Given the description of an element on the screen output the (x, y) to click on. 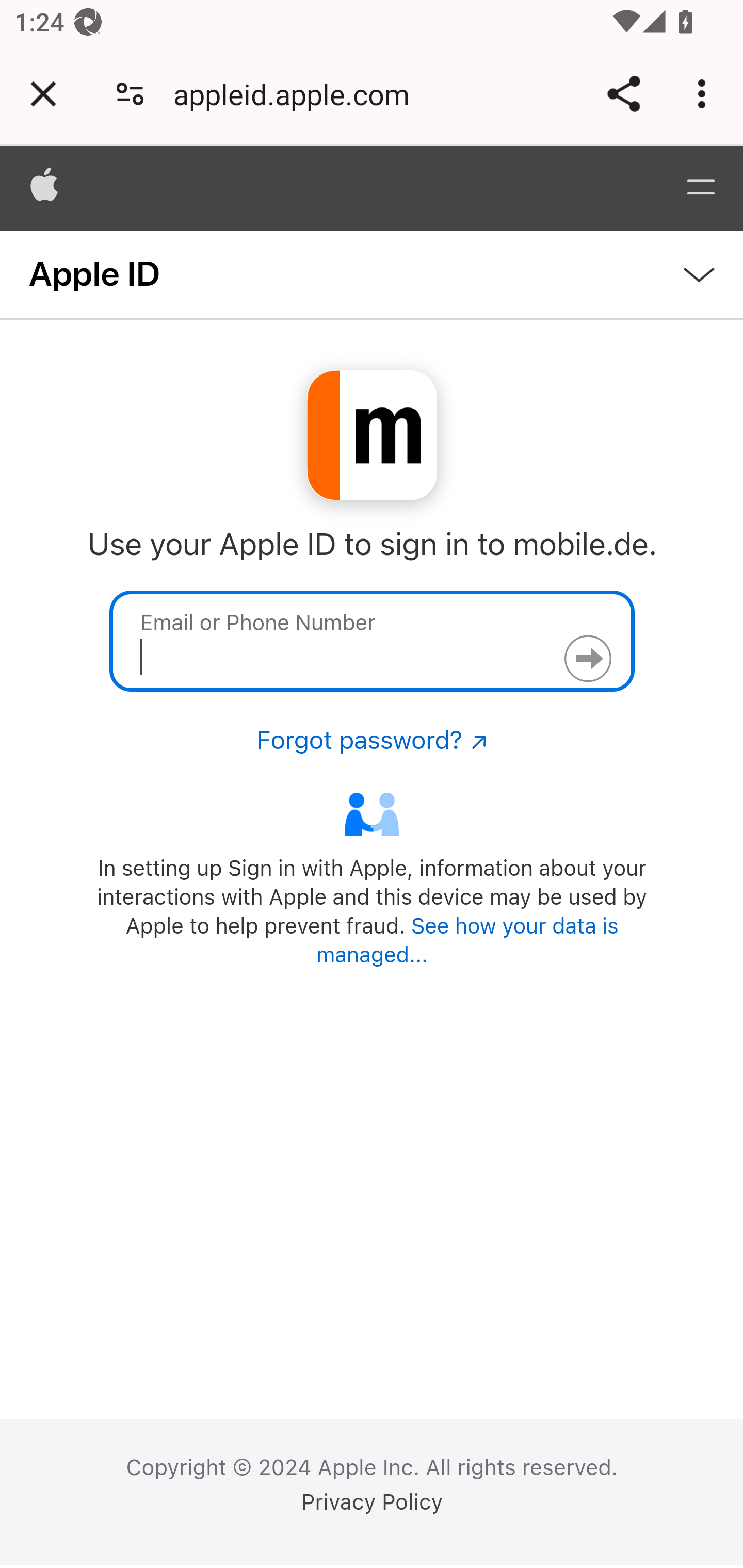
Close tab (43, 93)
Share (623, 93)
Customize and control Google Chrome (705, 93)
Connection is secure (129, 93)
appleid.apple.com (298, 93)
Apple (45, 188)
Menu (700, 188)
Continue (586, 658)
Privacy Policy (371, 1502)
